Given the description of an element on the screen output the (x, y) to click on. 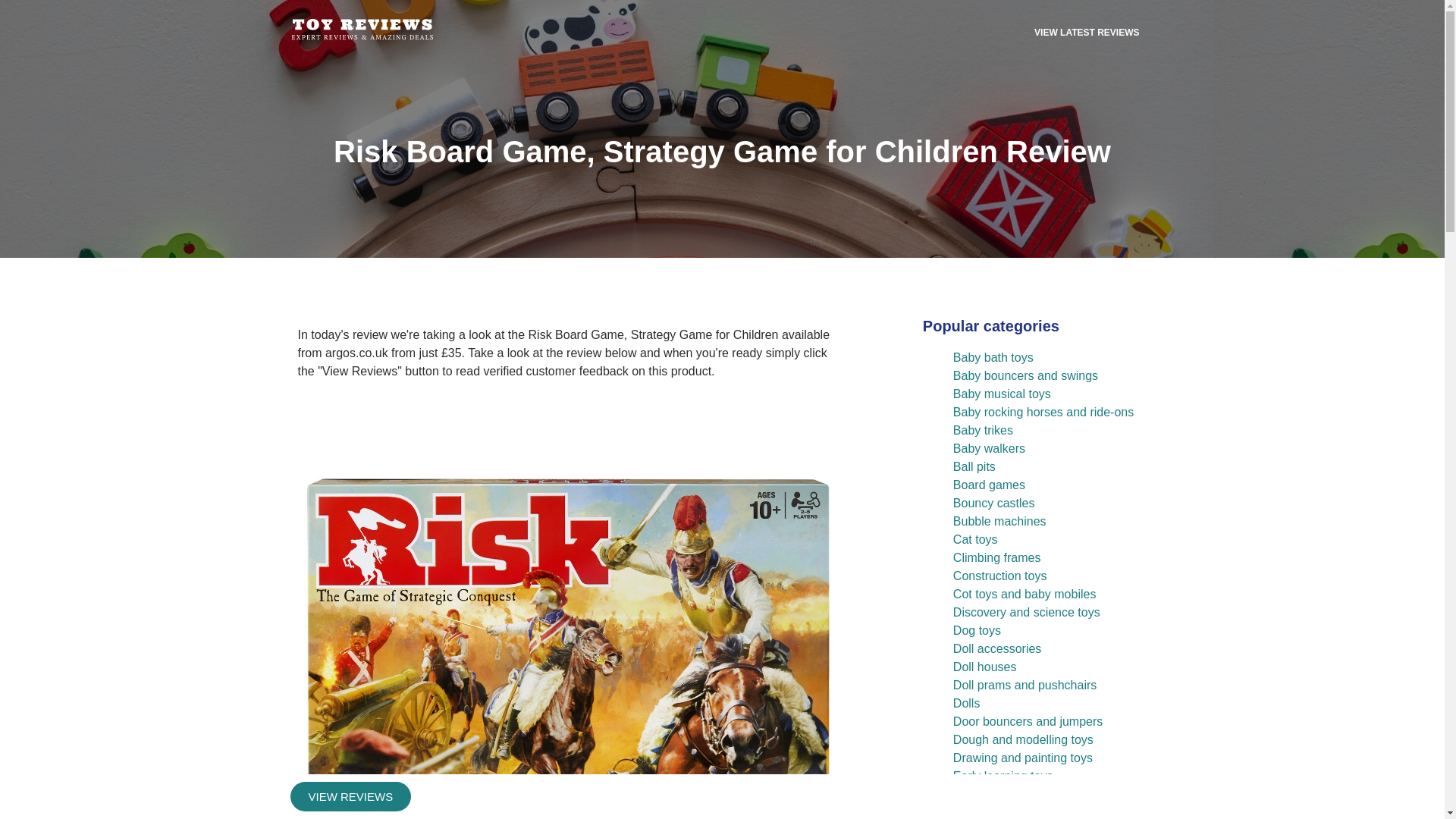
Board games (989, 484)
Ball pits (974, 466)
Baby bath toys (993, 357)
Baby bouncers and swings (1025, 375)
Bubble machines (999, 521)
Cot toys and baby mobiles (1024, 594)
Baby walkers (989, 448)
Climbing frames (997, 557)
Baby rocking horses and ride-ons (1043, 411)
Cat toys (975, 539)
